Given the description of an element on the screen output the (x, y) to click on. 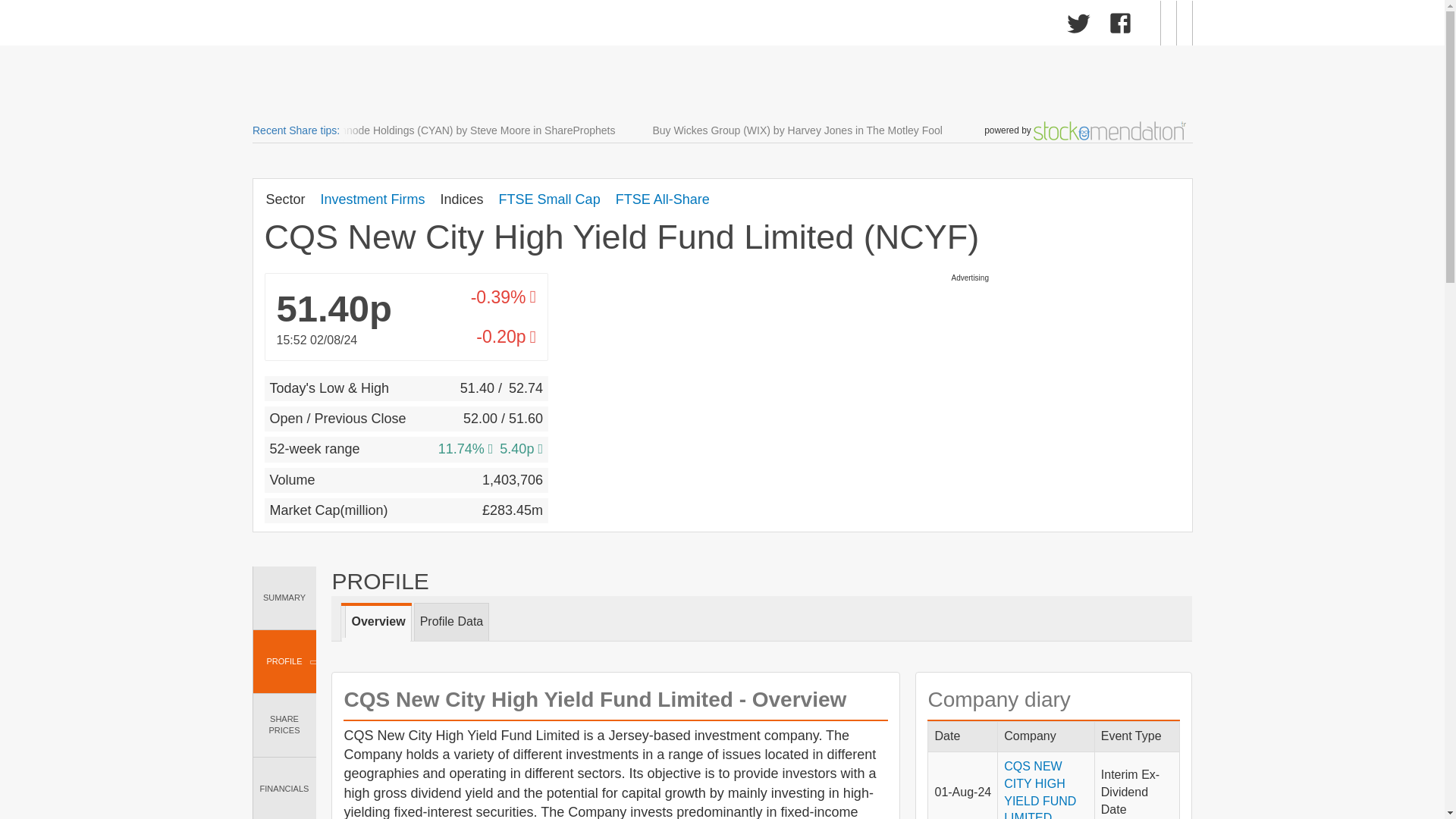
Sharecast (486, 22)
Sharecast News (511, 26)
Market Data (404, 26)
Cryptocurrencies (633, 26)
UK Shares (315, 26)
Active Trader (744, 26)
